Given the description of an element on the screen output the (x, y) to click on. 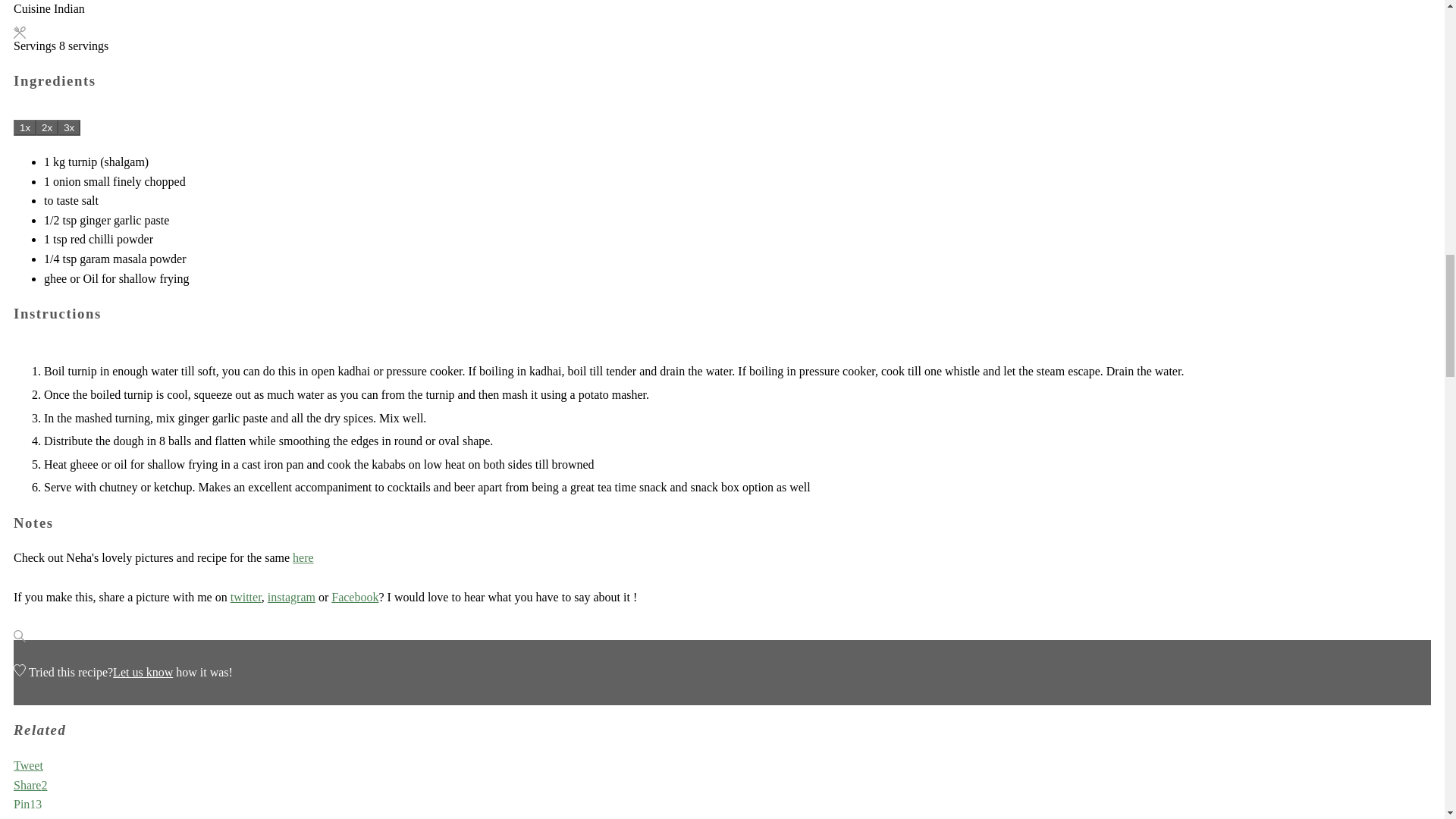
3x (69, 127)
twitter (246, 596)
1x (24, 127)
Facebook (354, 596)
Tweet (28, 765)
2x (47, 127)
Let us know (143, 671)
here (303, 557)
instagram (291, 596)
Share2 (29, 784)
